Given the description of an element on the screen output the (x, y) to click on. 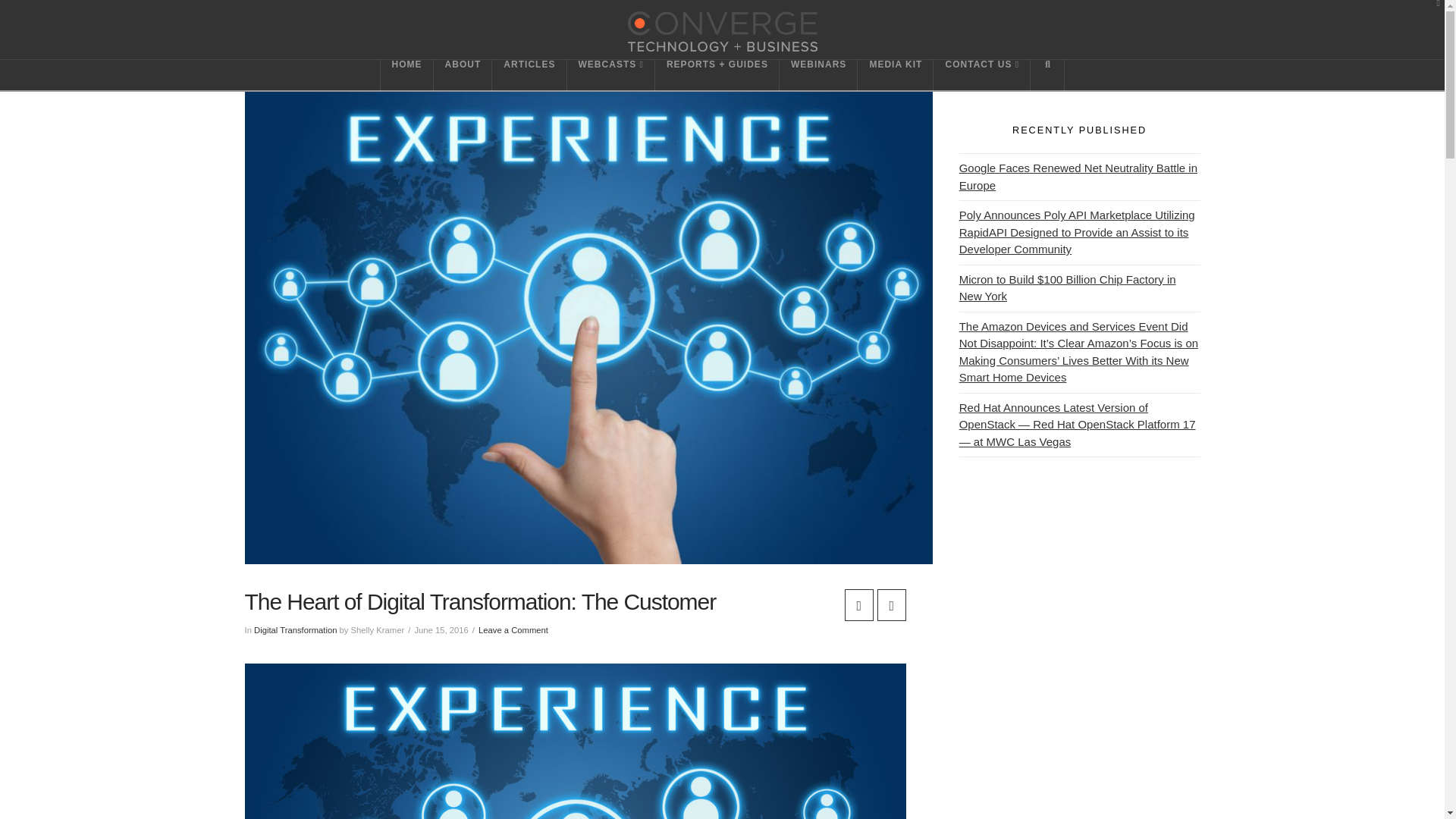
HOME (406, 74)
MEDIA KIT (895, 74)
ABOUT (463, 74)
Leave a Comment (513, 629)
WEBCASTS (611, 74)
ARTICLES (529, 74)
Digital Transformation (294, 629)
CONTACT US (981, 74)
WEBINARS (817, 74)
